Given the description of an element on the screen output the (x, y) to click on. 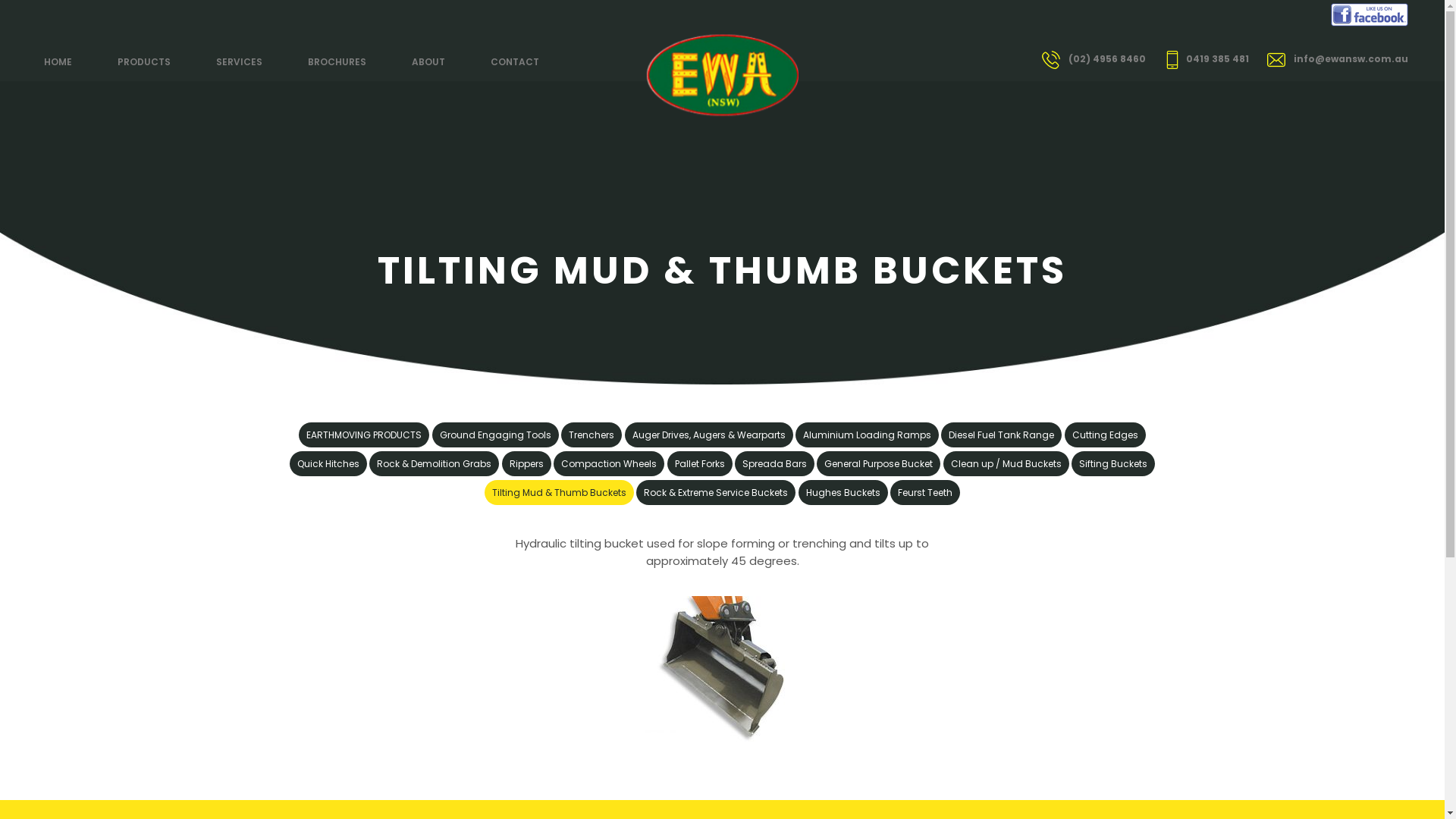
Auger Drives, Augers & Wearparts Element type: text (708, 434)
Compaction Wheels Element type: text (608, 463)
Hughes Buckets Element type: text (843, 492)
Aluminium Loading Ramps Element type: text (866, 434)
HOME Element type: text (66, 62)
PRODUCTS Element type: text (143, 62)
0419 385 481 Element type: text (1217, 58)
Diesel Fuel Tank Range Element type: text (1001, 434)
General Purpose Bucket Element type: text (878, 463)
EARTHMOVING PRODUCTS Element type: text (363, 434)
Tilting Mud & Thumb Buckets Element type: text (558, 492)
BROCHURES Element type: text (337, 62)
Pic-tilting-mud-thumb Element type: hover (722, 669)
SERVICES Element type: text (238, 62)
Sifting Buckets Element type: text (1112, 463)
Rock & Demolition Grabs Element type: text (433, 463)
Ground Engaging Tools Element type: text (495, 434)
Clean up / Mud Buckets Element type: text (1006, 463)
Rock & Extreme Service Buckets Element type: text (715, 492)
ewanswcom Element type: hover (721, 32)
CONTACT Element type: text (514, 62)
Spreada Bars Element type: text (774, 463)
info@ewansw.com.au Element type: text (1350, 58)
ABOUT Element type: text (427, 62)
(02) 4956 8460 Element type: text (1106, 58)
Cutting Edges Element type: text (1104, 434)
Feurst Teeth Element type: text (925, 492)
Rippers Element type: text (526, 463)
Pallet Forks Element type: text (699, 463)
Quick Hitches Element type: text (328, 463)
Trenchers Element type: text (591, 434)
